Given the description of an element on the screen output the (x, y) to click on. 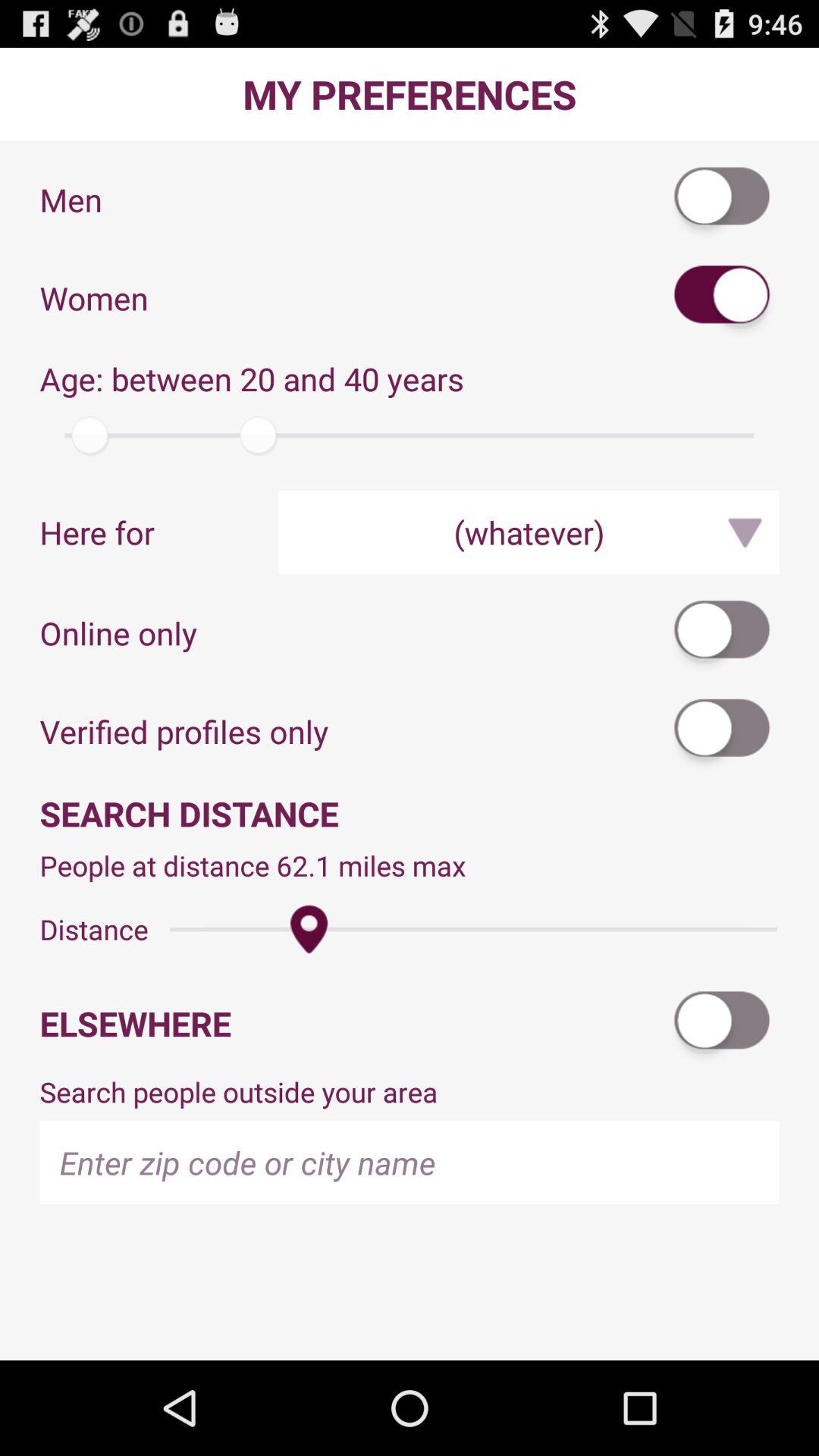
enter zip code or city name information (409, 1162)
